Given the description of an element on the screen output the (x, y) to click on. 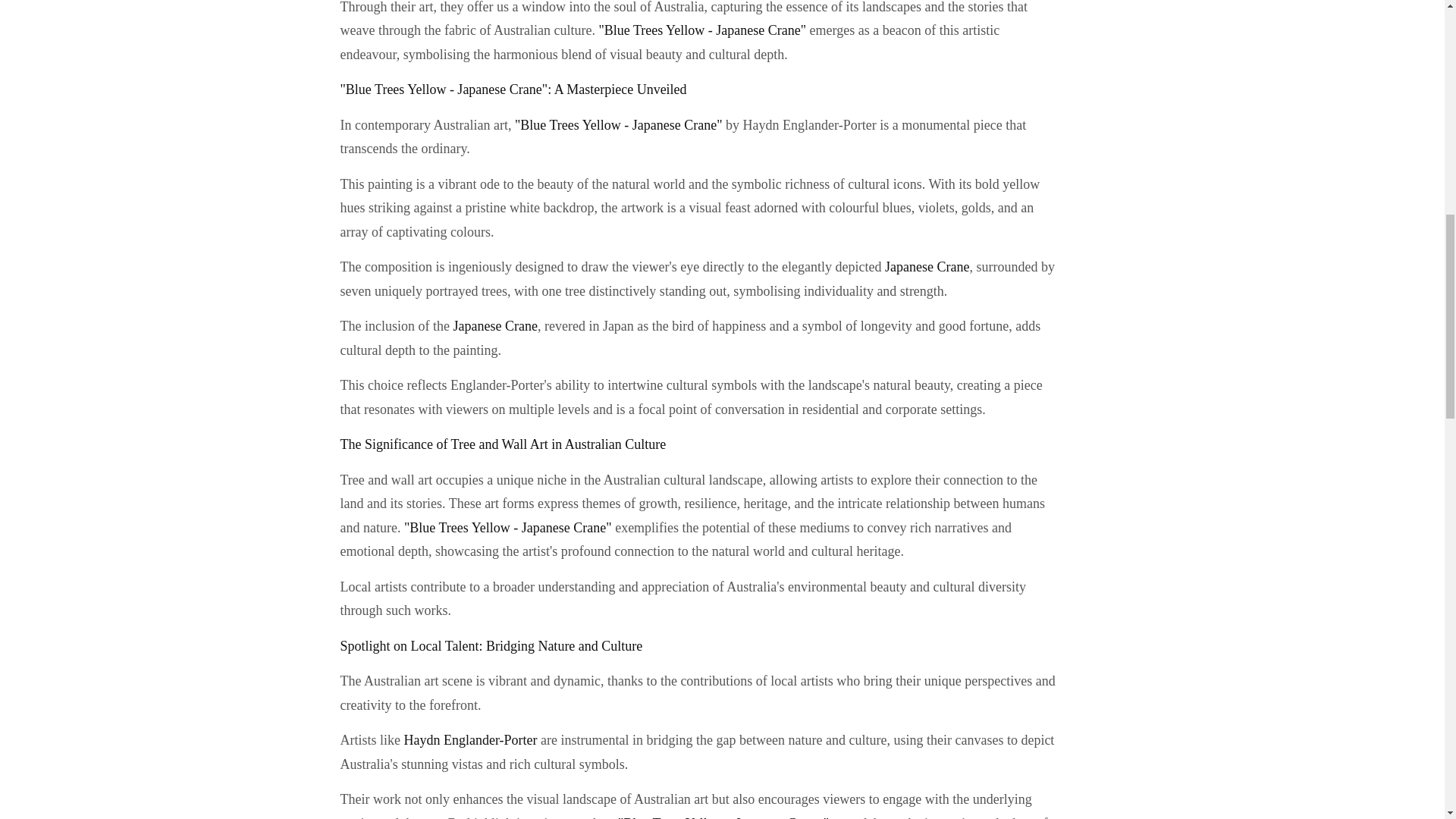
"Blue Trees Yellow - Japanese Crane" (509, 527)
Haydn Englander-Porter (470, 739)
"Blue Trees Yellow - Japanese Crane," (724, 817)
"Blue Trees Yellow - Japanese Crane" (703, 29)
"Blue Trees Yellow - Japanese Crane" (616, 124)
